Given the description of an element on the screen output the (x, y) to click on. 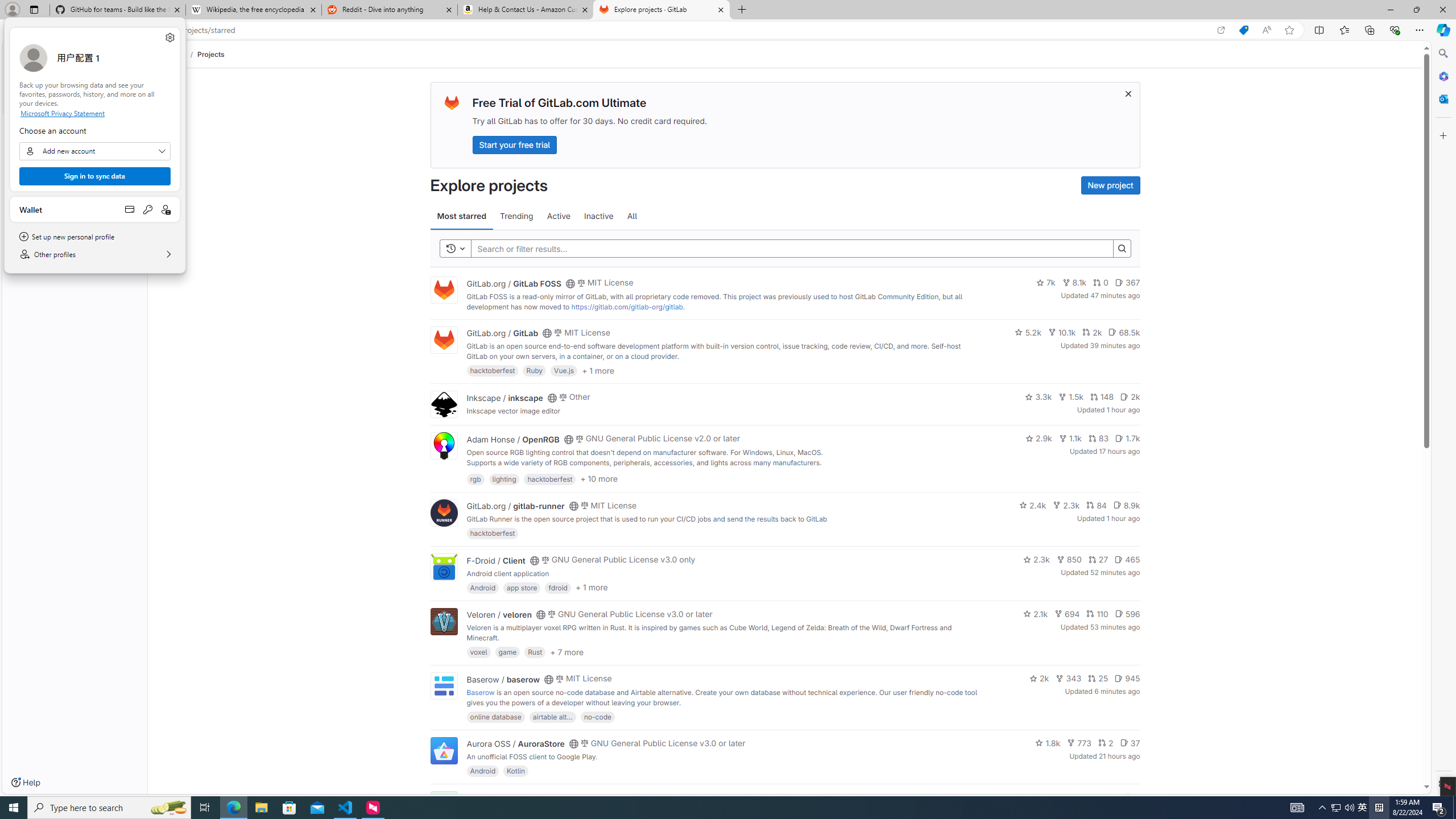
7k (1045, 282)
Class: s14 gl-mr-2 (1128, 796)
hacktoberfest (492, 533)
Class: s16 (568, 798)
2.9k (1362, 807)
1.8k (1038, 438)
1.5k (1048, 742)
Inkscape / inkscape (1070, 396)
Android (504, 397)
8.1k (482, 770)
